Given the description of an element on the screen output the (x, y) to click on. 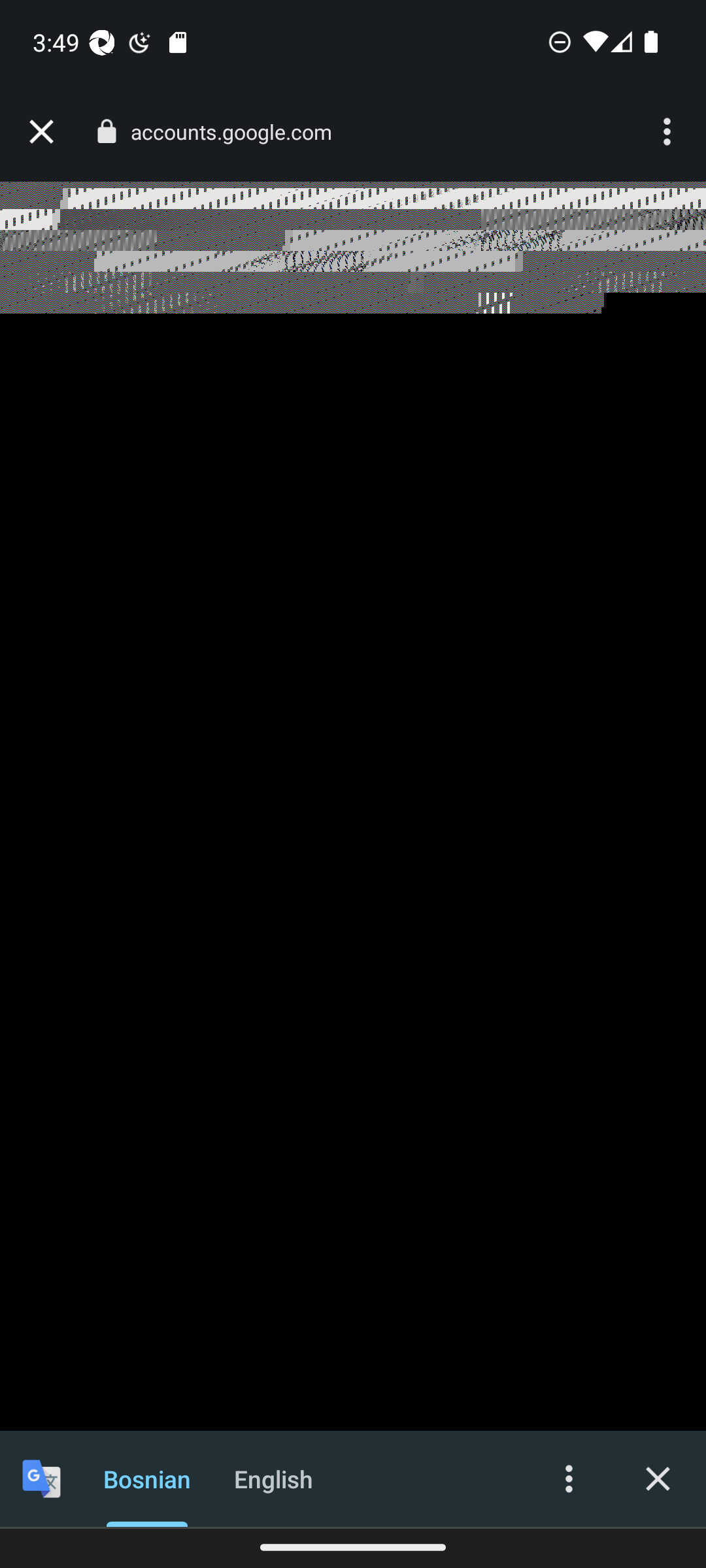
Close tab (41, 131)
More options (669, 131)
Connection is secure (106, 131)
accounts.google.com (237, 131)
English (273, 1478)
More options (568, 1478)
Close (657, 1478)
